Given the description of an element on the screen output the (x, y) to click on. 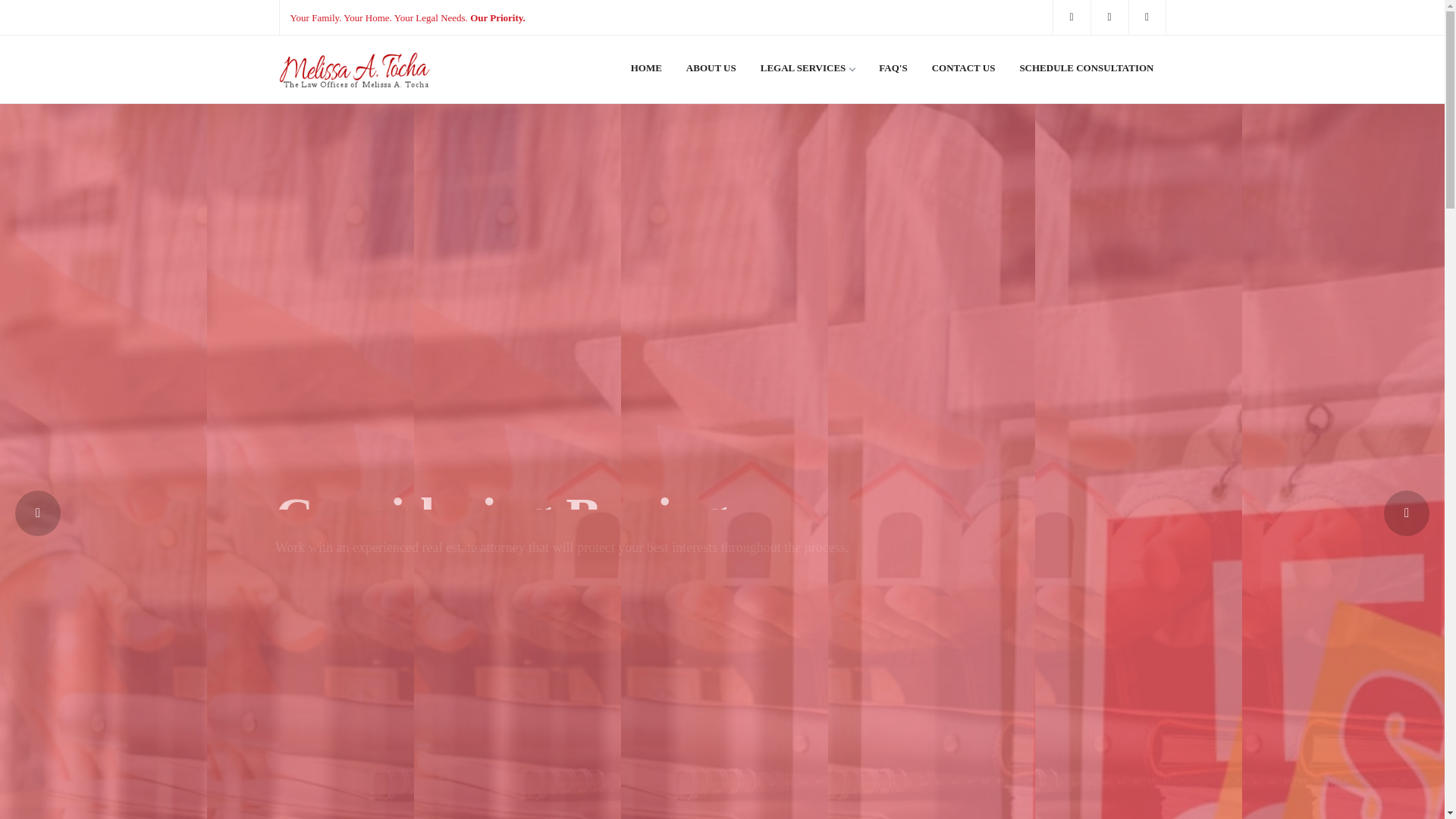
CONTACT US (963, 72)
LEGAL SERVICES (807, 72)
SCHEDULE CONSULTATION (1086, 72)
Call us at 716-204-2374 (1070, 16)
HOME (646, 72)
ABOUT US (711, 72)
FAQ'S (892, 72)
